Given the description of an element on the screen output the (x, y) to click on. 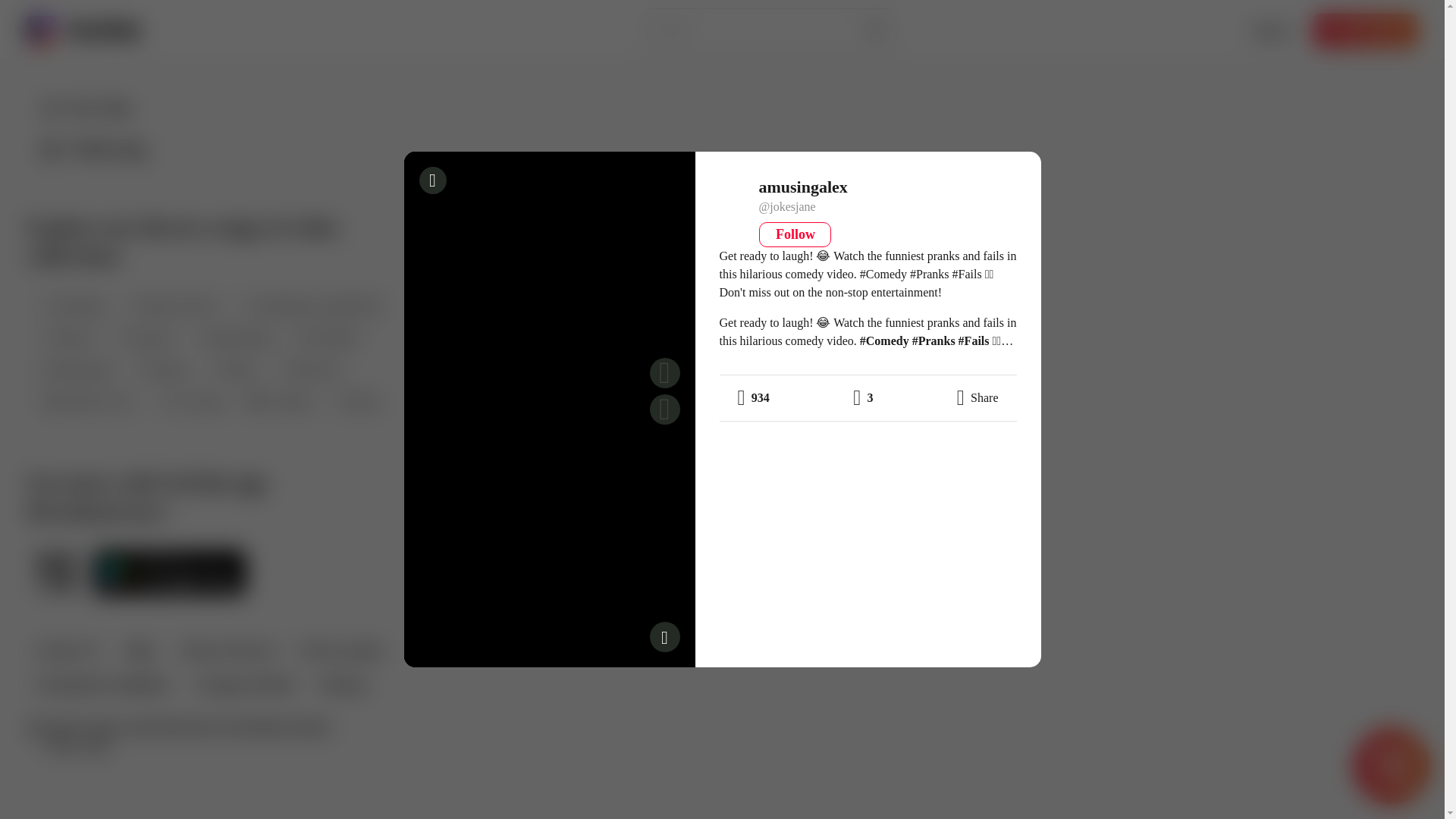
Terms of Service (228, 652)
Following (93, 148)
Contact Us (66, 652)
Sitemap (342, 686)
Company Details (244, 686)
For You (86, 107)
Privacy policy (341, 652)
Get the App (1365, 30)
Blog (139, 652)
Follow (794, 234)
Community Guidelines (101, 686)
Log in (1269, 30)
